Given the description of an element on the screen output the (x, y) to click on. 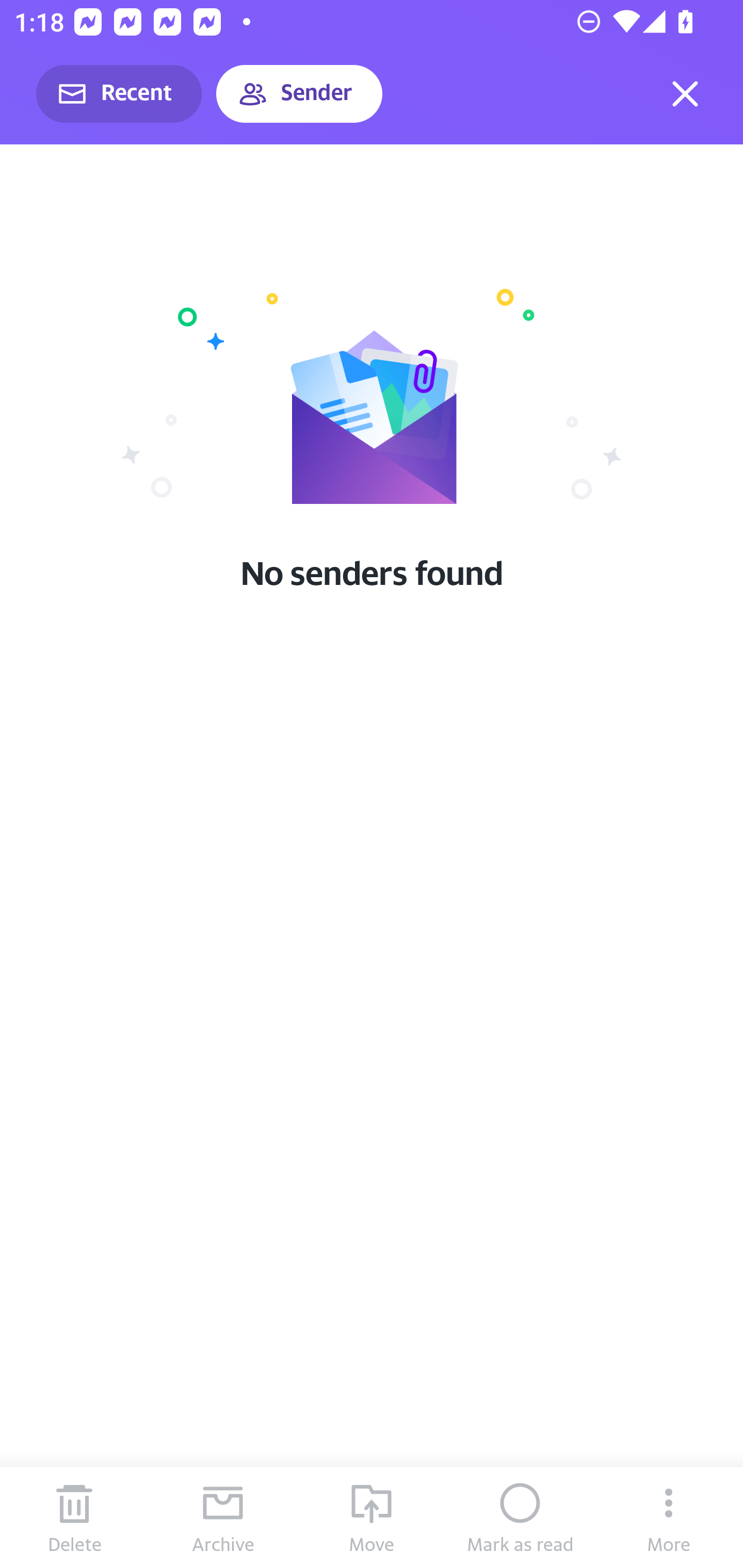
Recent (119, 93)
Exit selection mode (684, 93)
Delete (74, 1517)
Archive (222, 1517)
Move (371, 1517)
Mark as read (519, 1517)
More (668, 1517)
